Given the description of an element on the screen output the (x, y) to click on. 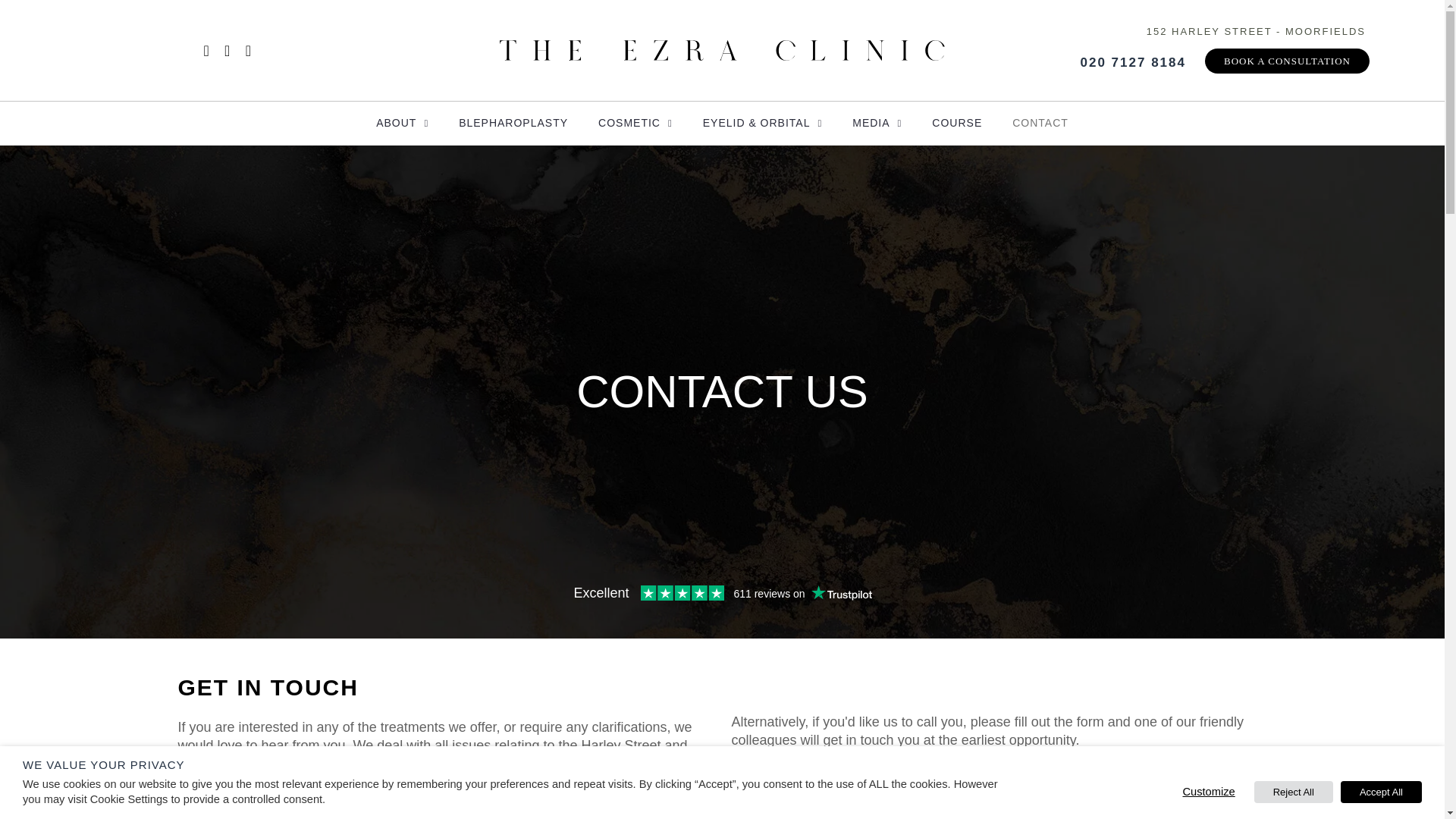
Customer reviews powered by Trustpilot (721, 592)
